Given the description of an element on the screen output the (x, y) to click on. 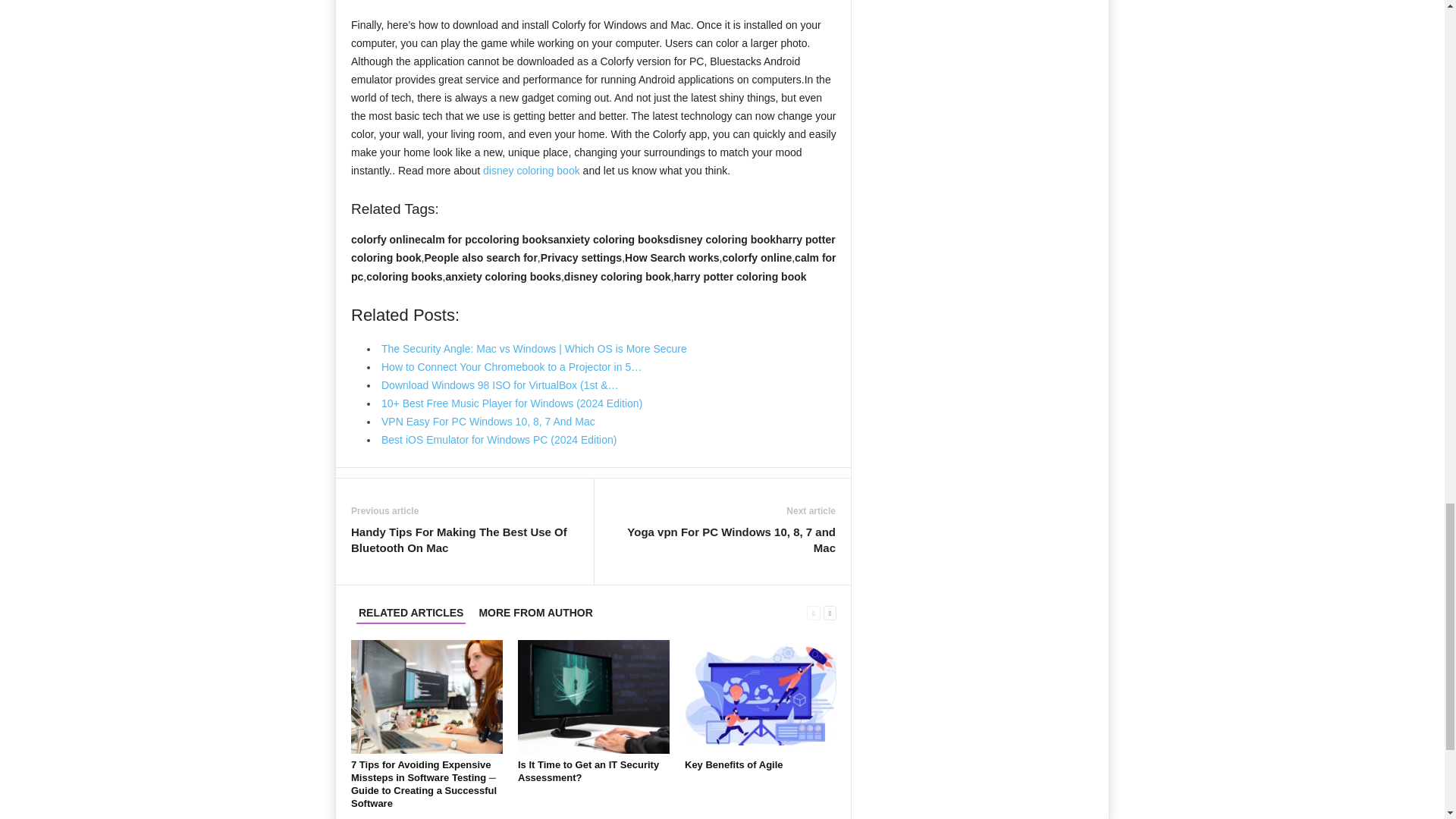
Is It Time to Get an IT Security Assessment? (593, 696)
disney coloring book (531, 170)
Key Benefits of Agile (759, 696)
VPN Easy For PC Windows 10, 8, 7 And Mac (488, 421)
Is It Time to Get an IT Security Assessment? (588, 770)
